Given the description of an element on the screen output the (x, y) to click on. 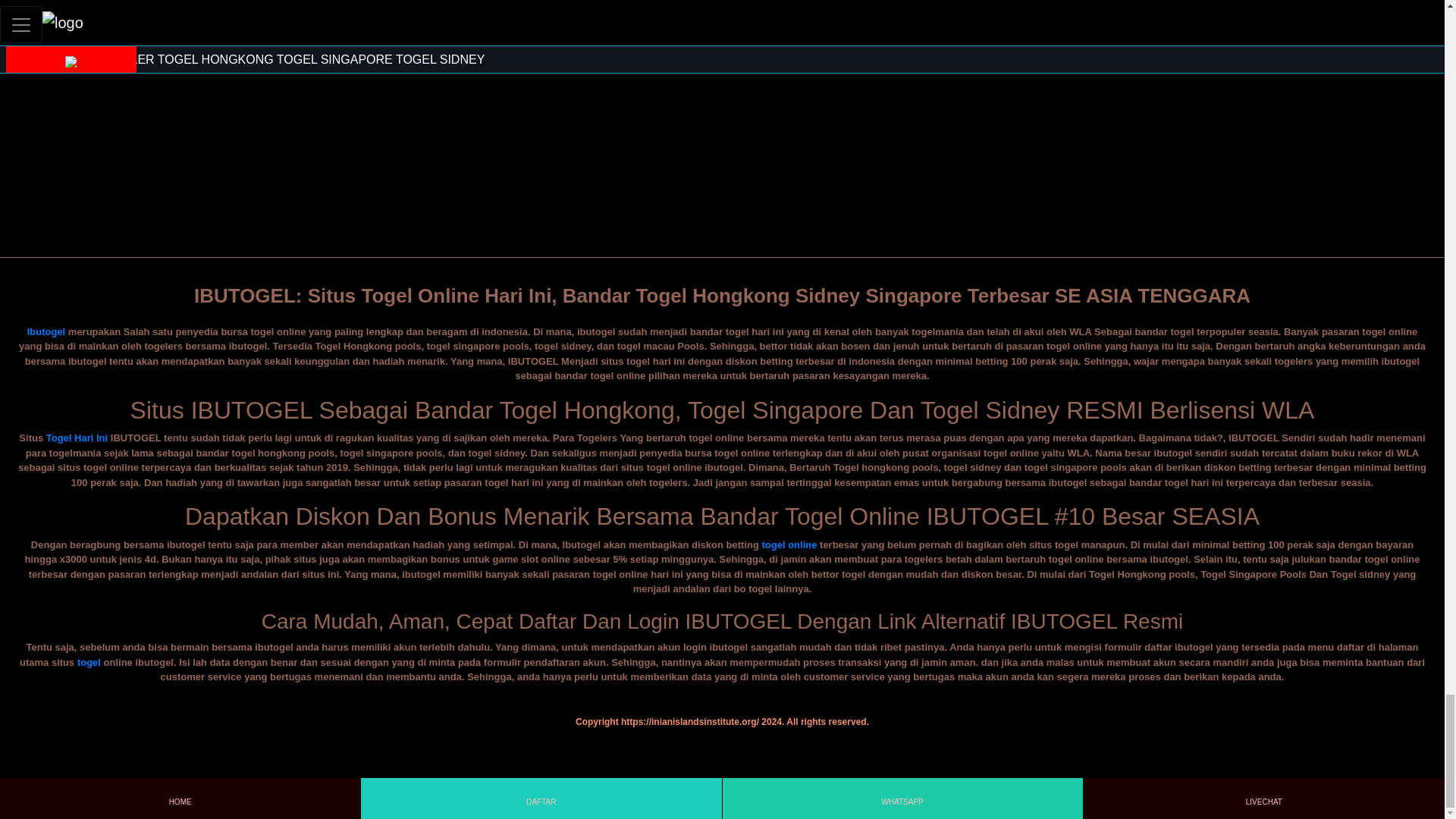
Togel Hari Ini (76, 437)
Ibutogel (46, 331)
togel (88, 662)
DAFTAR (540, 798)
WHATSAPP (901, 798)
togel online (788, 544)
data togel hari ini (722, 46)
HOME (179, 798)
LIVECHAT (1263, 798)
